Given the description of an element on the screen output the (x, y) to click on. 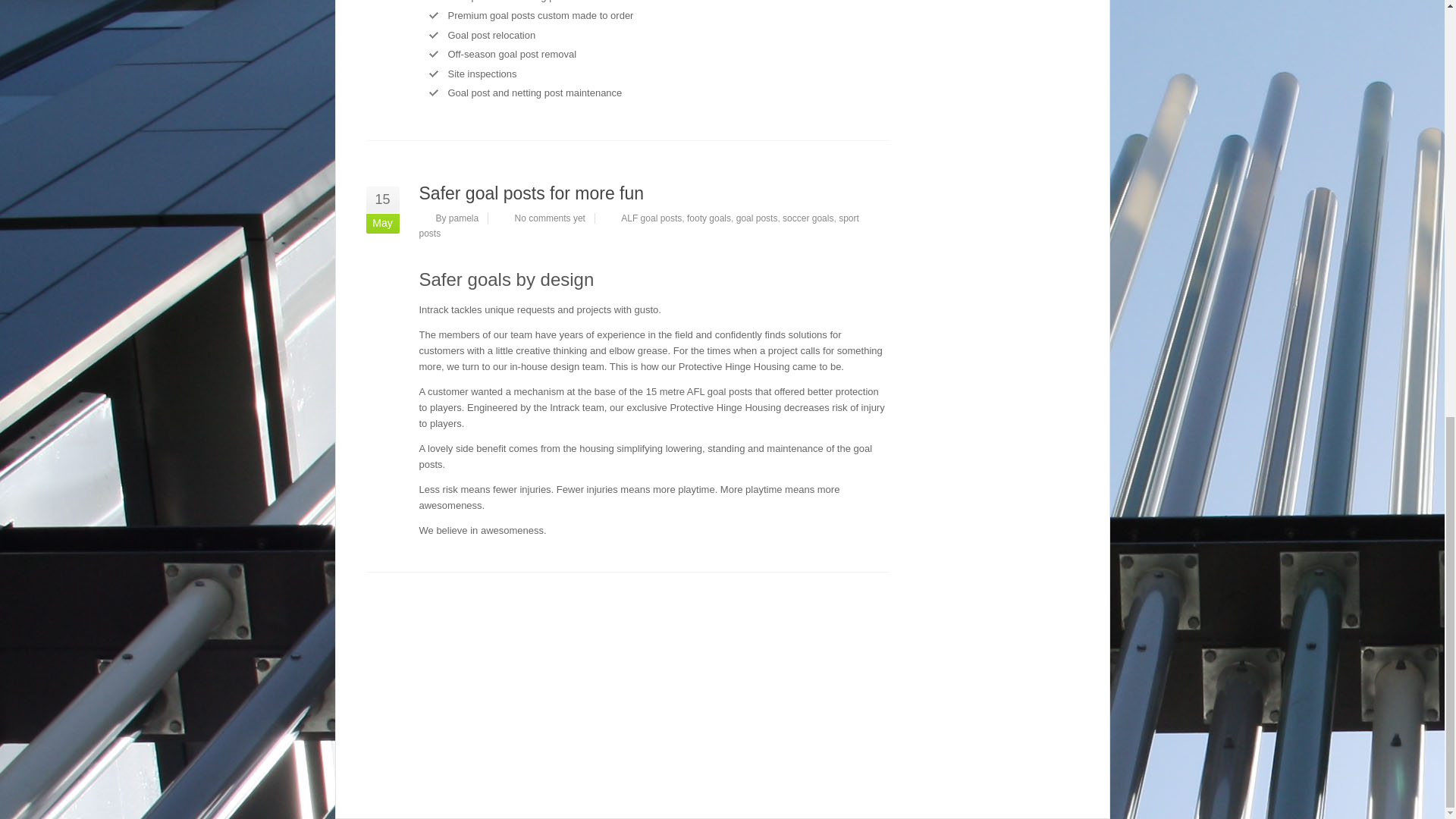
Safer goal posts for more fun (531, 193)
ALF goal posts (651, 217)
By pamela (457, 217)
Permalink to Safer goal posts for more fun (531, 193)
No comments yet (550, 217)
footy goals (708, 217)
